Given the description of an element on the screen output the (x, y) to click on. 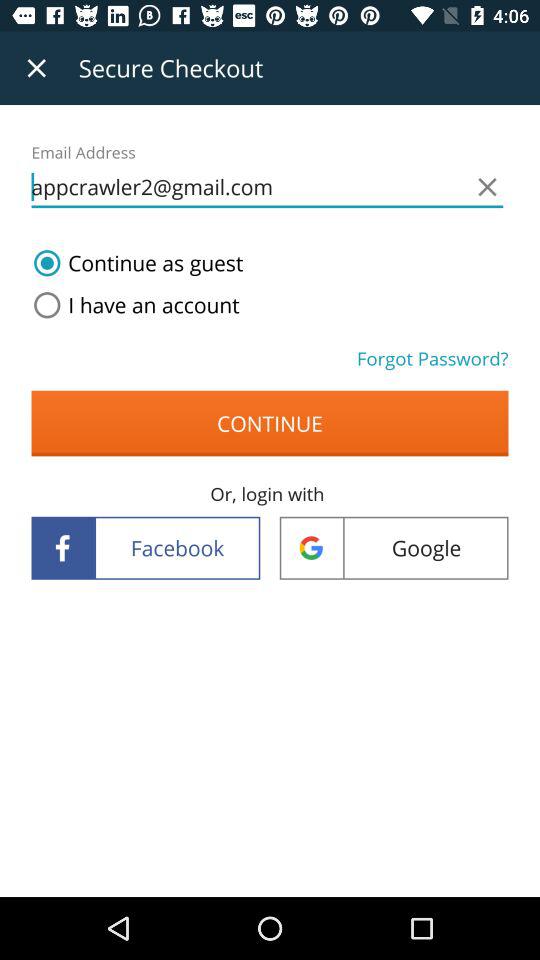
press icon next to i have an icon (432, 358)
